Given the description of an element on the screen output the (x, y) to click on. 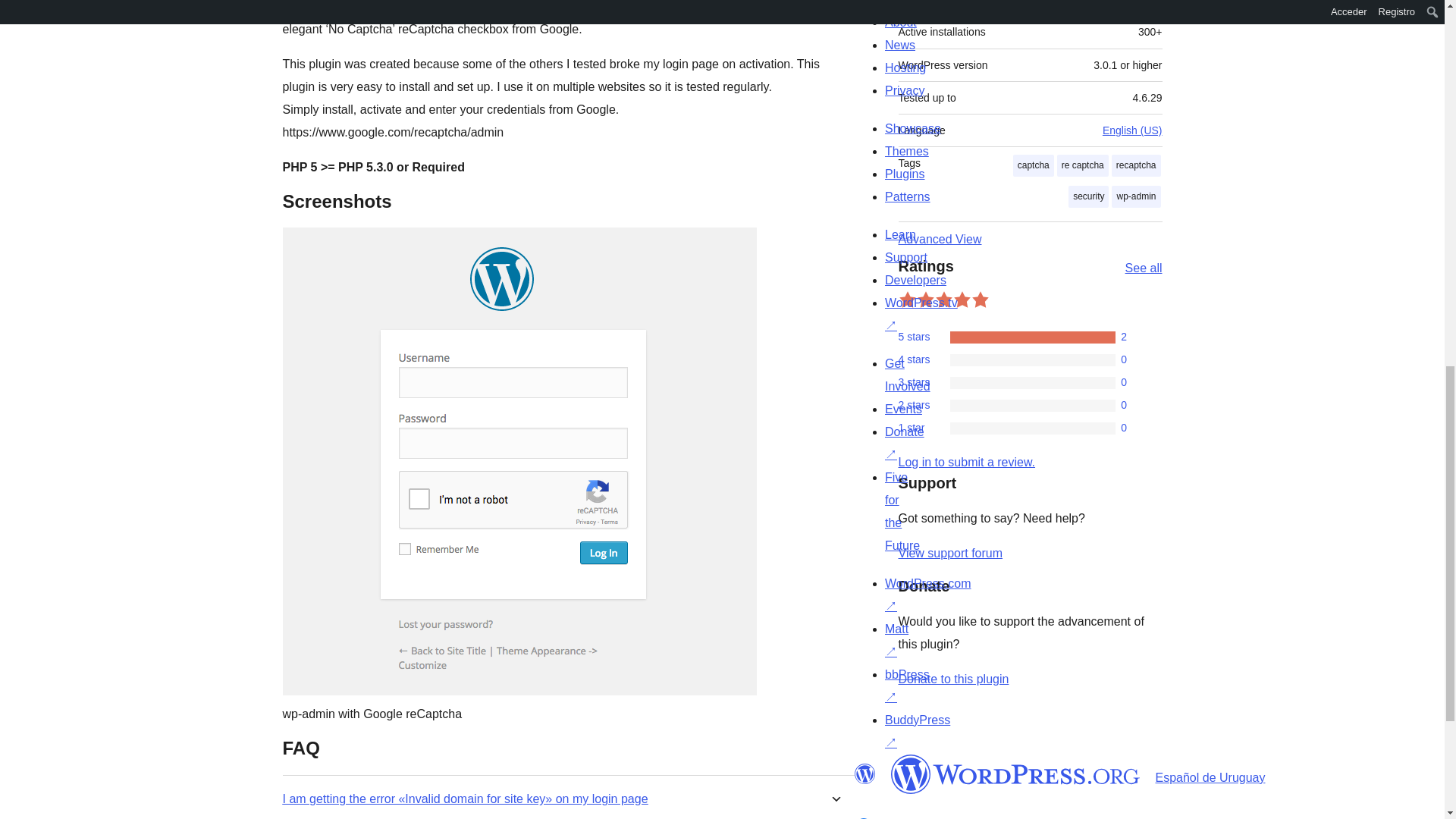
WordPress.org (864, 773)
Log in to WordPress.org (966, 461)
WordPress.org (1014, 773)
